Given the description of an element on the screen output the (x, y) to click on. 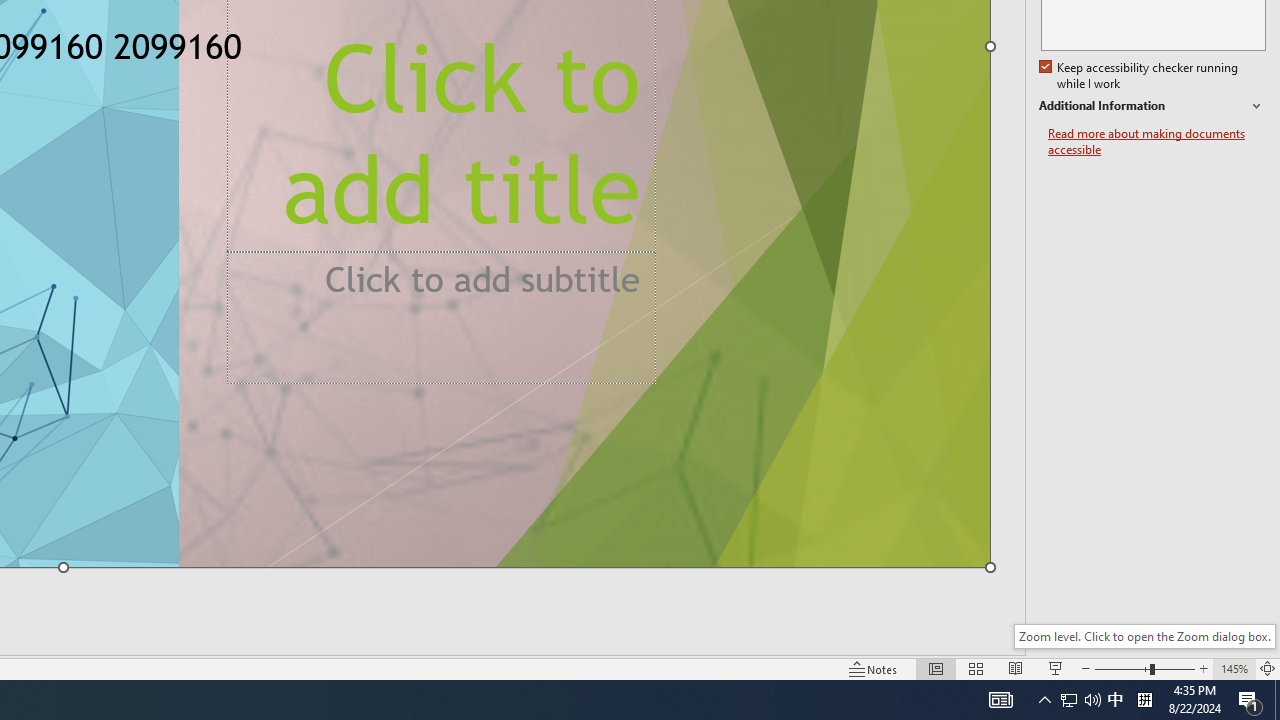
Additional Information (1152, 106)
Zoom level. Click to open the Zoom dialog box. (1144, 636)
Keep accessibility checker running while I work (1140, 76)
Zoom 145% (1234, 668)
Read more about making documents accessible (1156, 142)
